Given the description of an element on the screen output the (x, y) to click on. 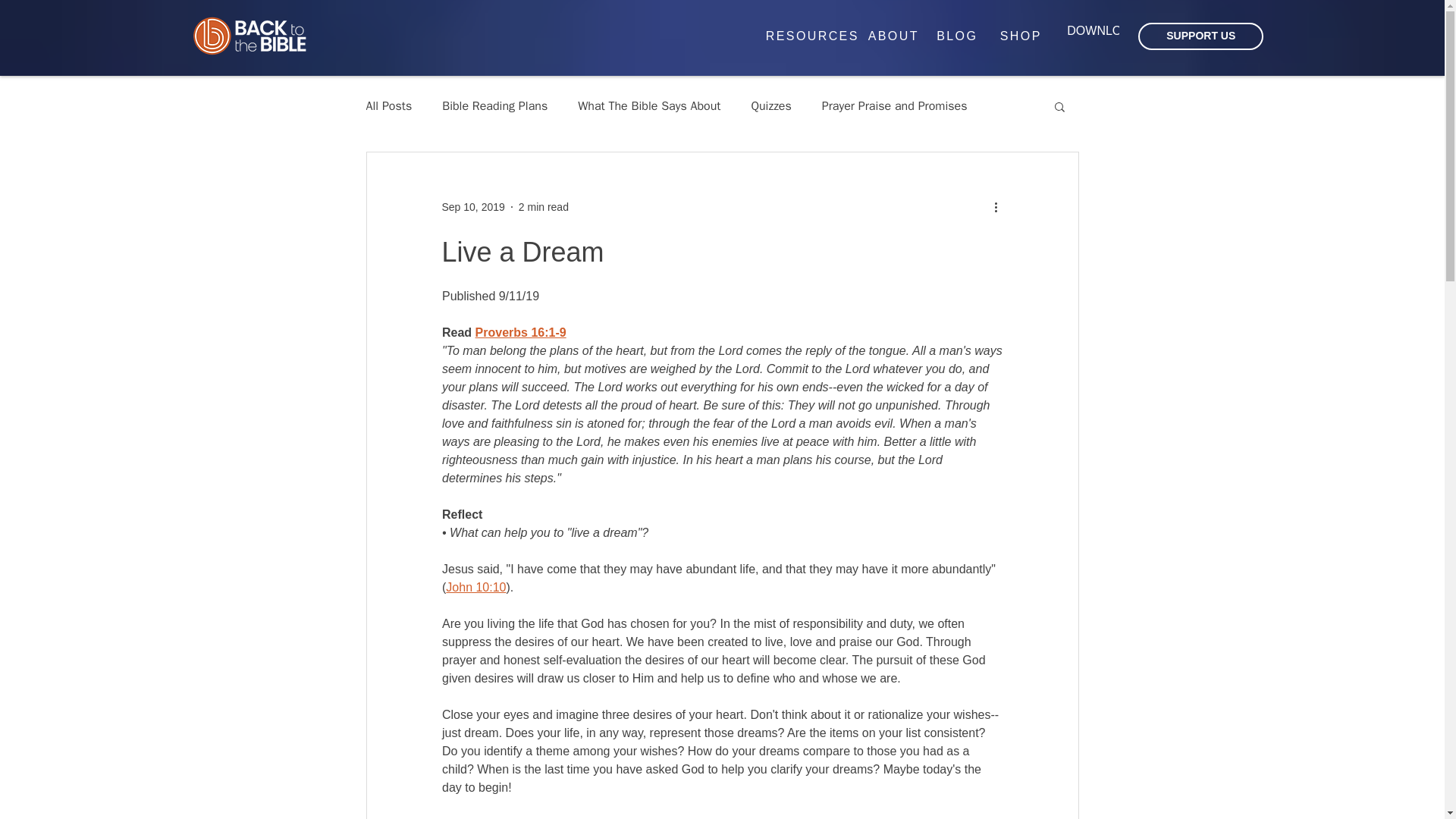
Sep 10, 2019 (472, 205)
2 min read (543, 205)
What The Bible Says About (649, 106)
SHOP (1020, 35)
Prayer Praise and Promises (895, 106)
All Posts (388, 106)
ABOUT (892, 35)
RESOURCES (811, 35)
DOWNLOAD APP (1115, 35)
Quizzes (770, 106)
